Given the description of an element on the screen output the (x, y) to click on. 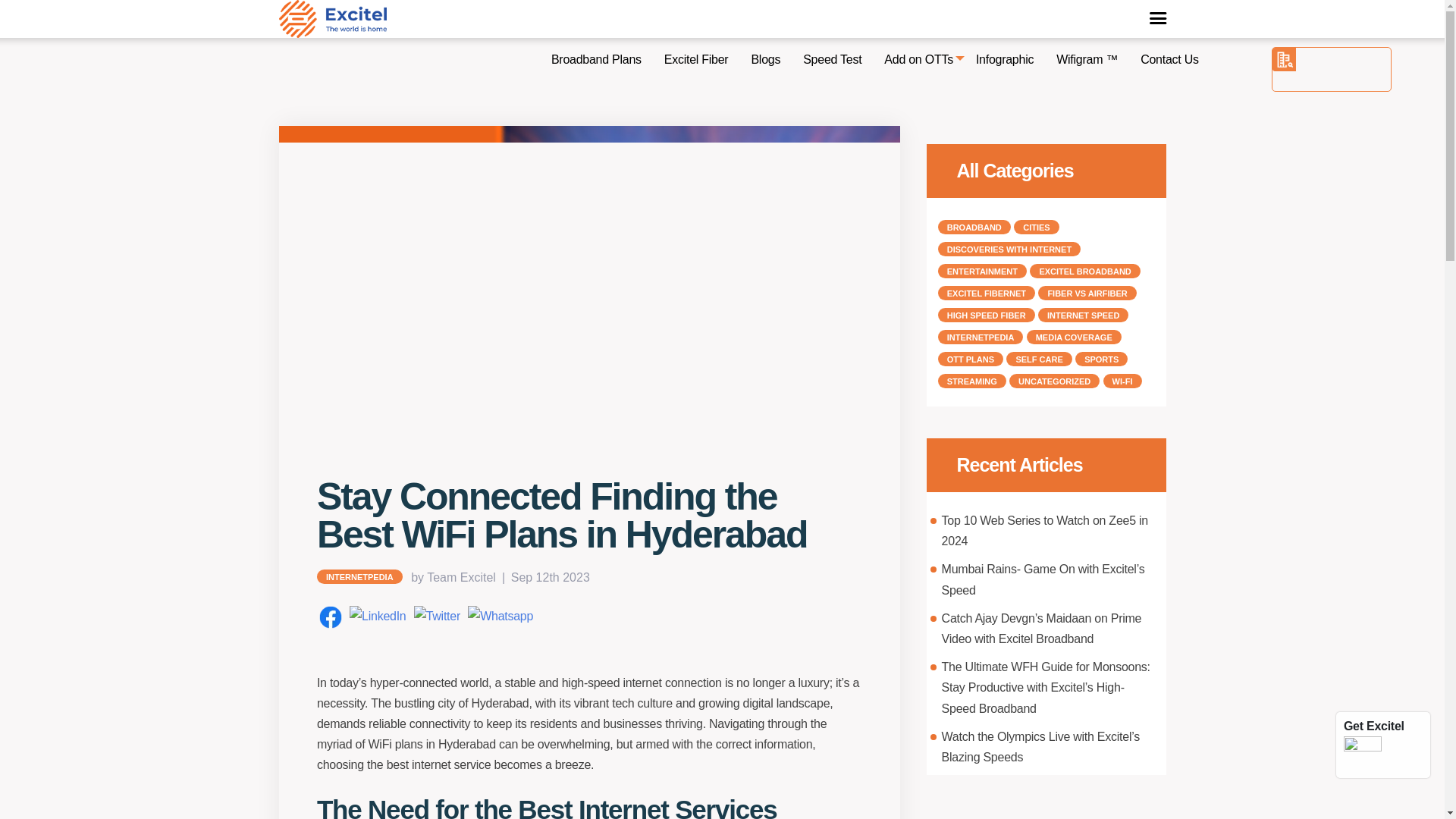
Contact Us (1169, 59)
Infographic (1004, 59)
Broadband Plans (596, 59)
INTERNETPEDIA (360, 576)
Speed Test (832, 59)
Excitel Fiber (695, 59)
Blogs (765, 59)
Add on OTTs (917, 59)
by Team Excitel (458, 576)
Sep 12th 2023 (550, 576)
